Given the description of an element on the screen output the (x, y) to click on. 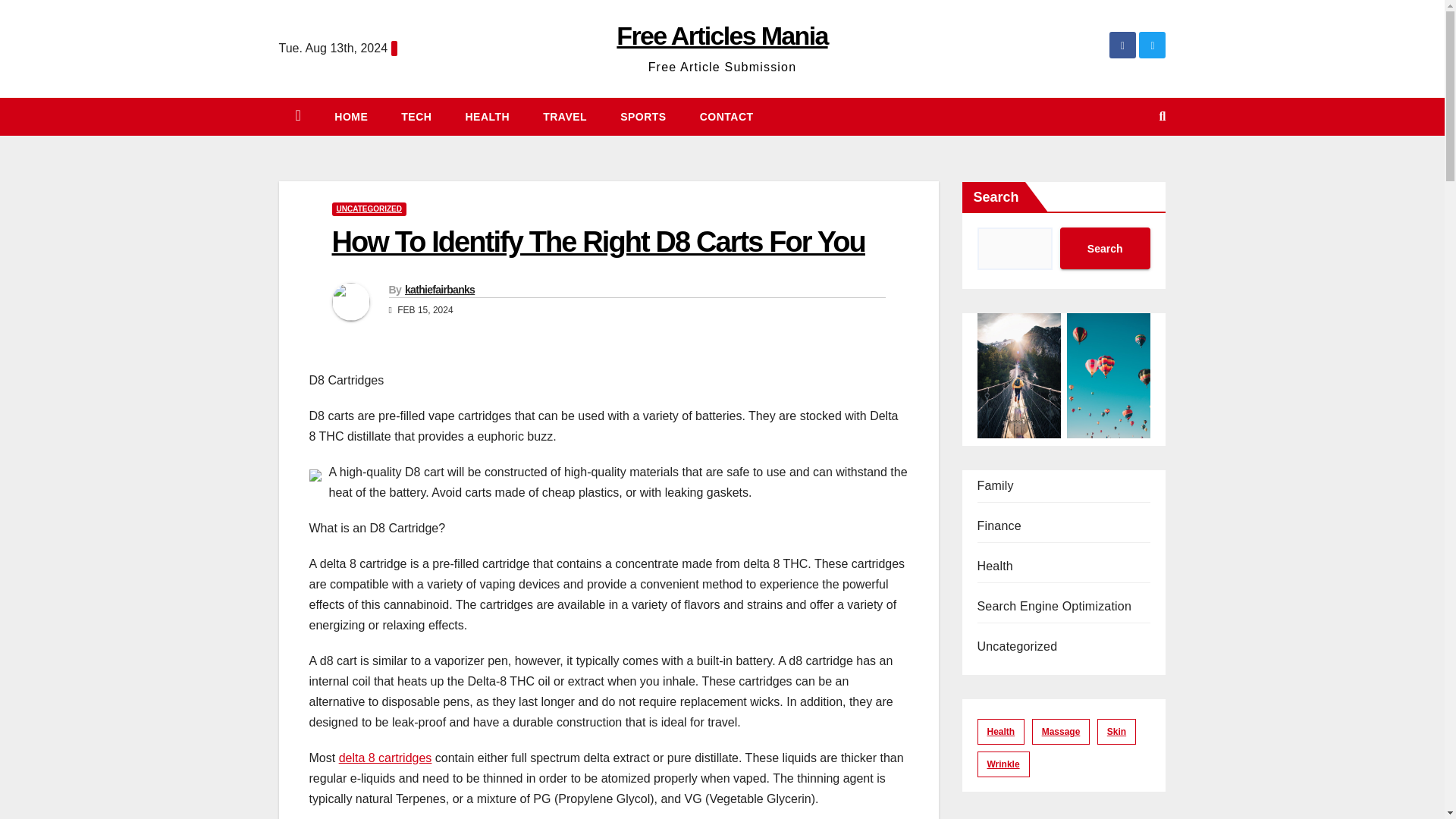
delta 8 cartridges (385, 757)
Sports (643, 116)
CONTACT (726, 116)
HOME (350, 116)
Free Articles Mania (721, 35)
Contact (726, 116)
Home (350, 116)
Permalink to: How To Identify The Right D8 Carts For You (597, 241)
How To Identify The Right D8 Carts For You (597, 241)
kathiefairbanks (439, 289)
